Given the description of an element on the screen output the (x, y) to click on. 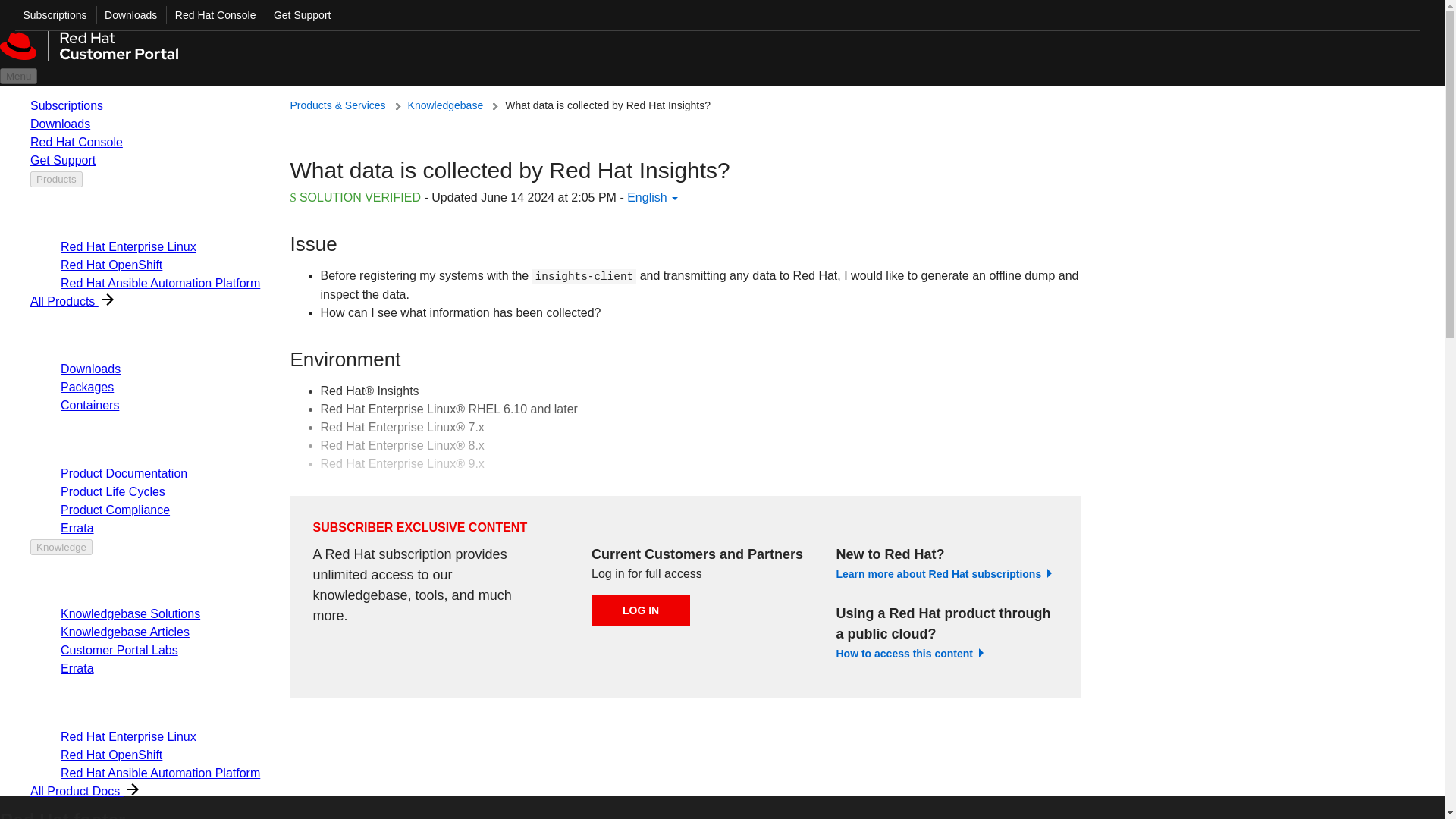
Red Hat Console (210, 14)
Subscriptions (50, 14)
Downloads (126, 14)
Get Support (297, 14)
Jun5 14 2024 pmt 2:05 P6 (547, 196)
